Given the description of an element on the screen output the (x, y) to click on. 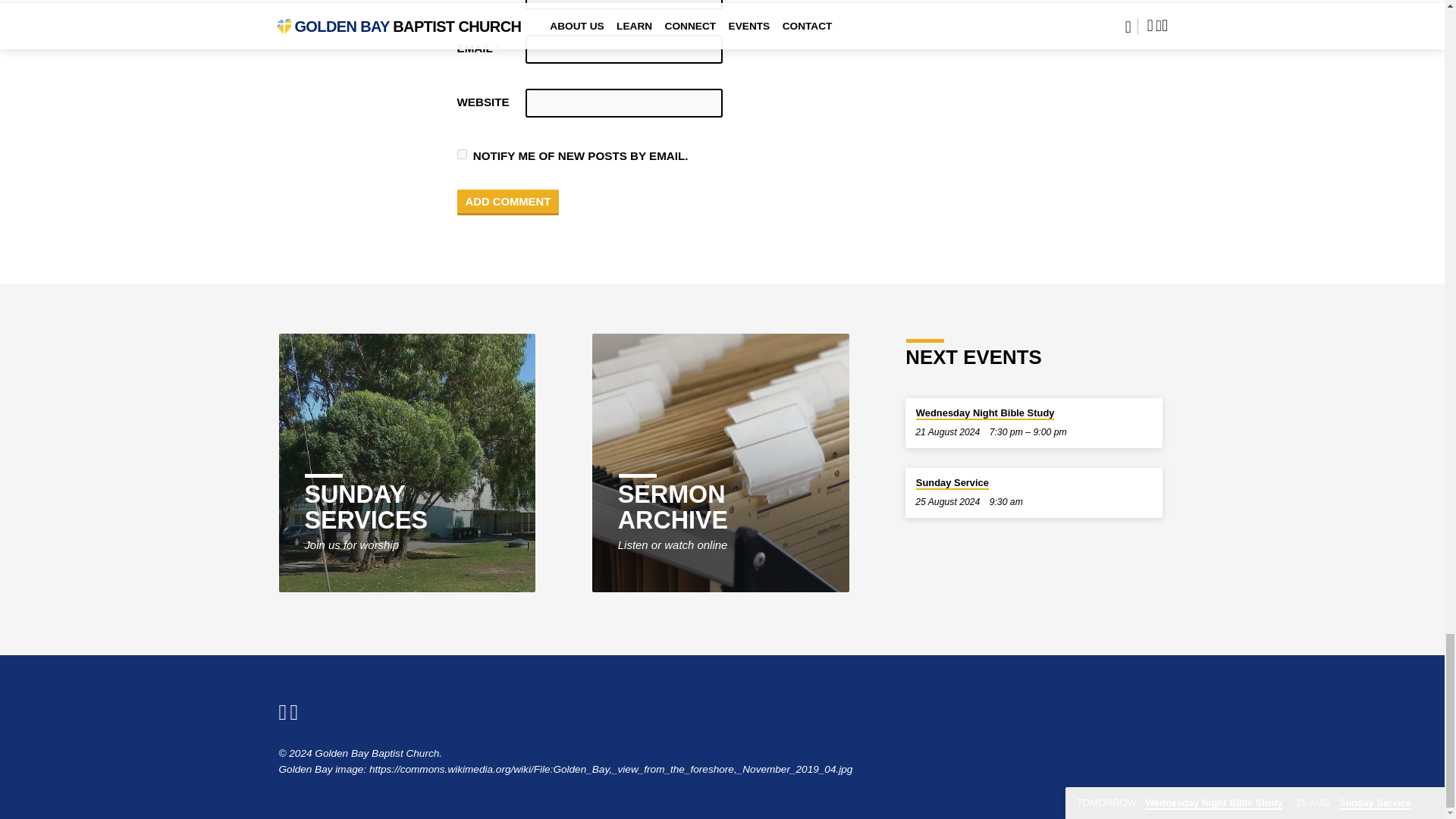
subscribe (461, 153)
Add Comment (508, 202)
Wednesday Night Bible Study (984, 413)
Sunday Service (951, 482)
